Given the description of an element on the screen output the (x, y) to click on. 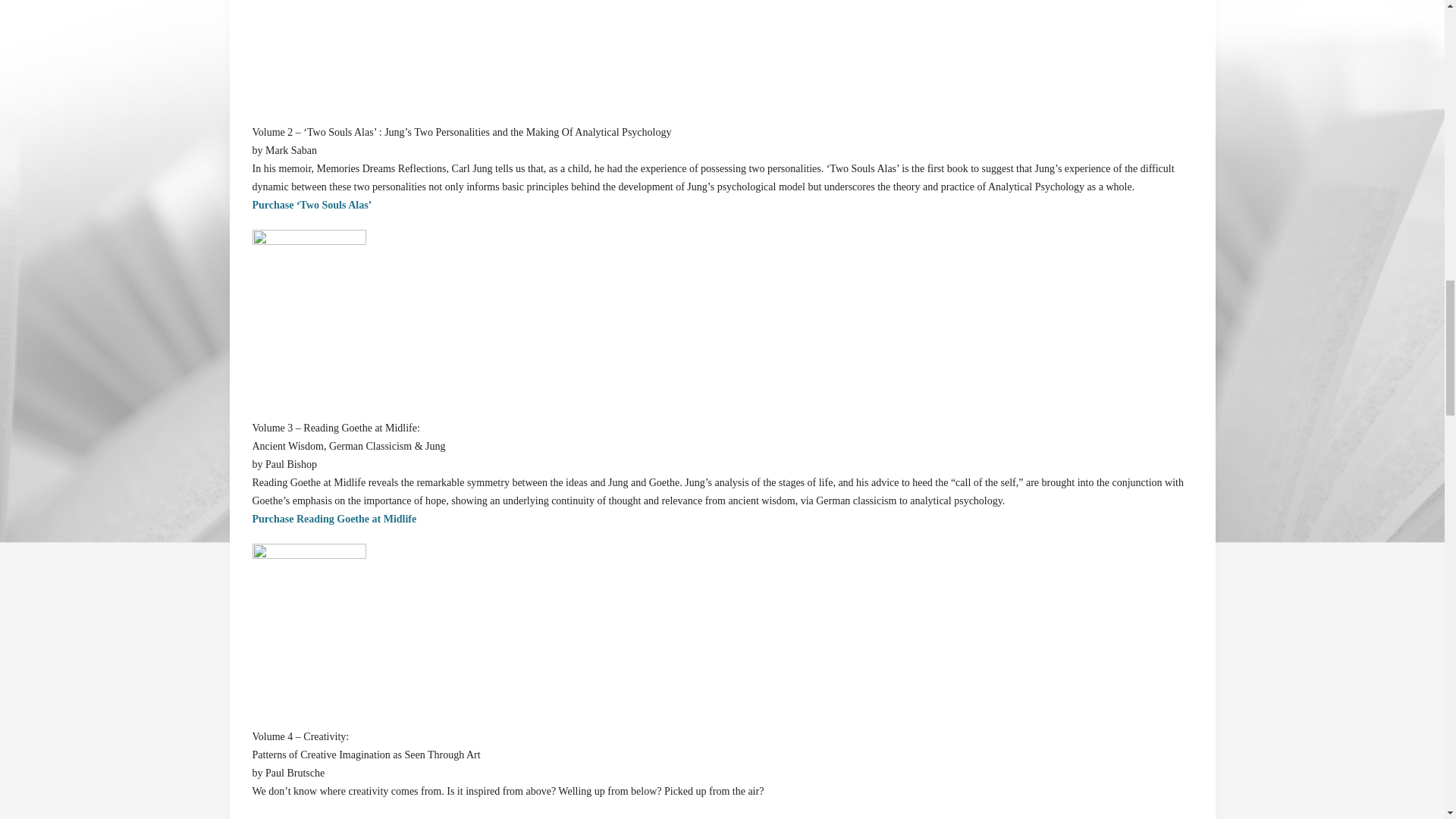
Purchase 'Two Souls Alas' (311, 204)
Reading Goethe at Midlife (308, 315)
Purchase Reading Goethe at Midlife (333, 518)
Creativity (308, 627)
'Two Souls Alas' (308, 18)
